Given the description of an element on the screen output the (x, y) to click on. 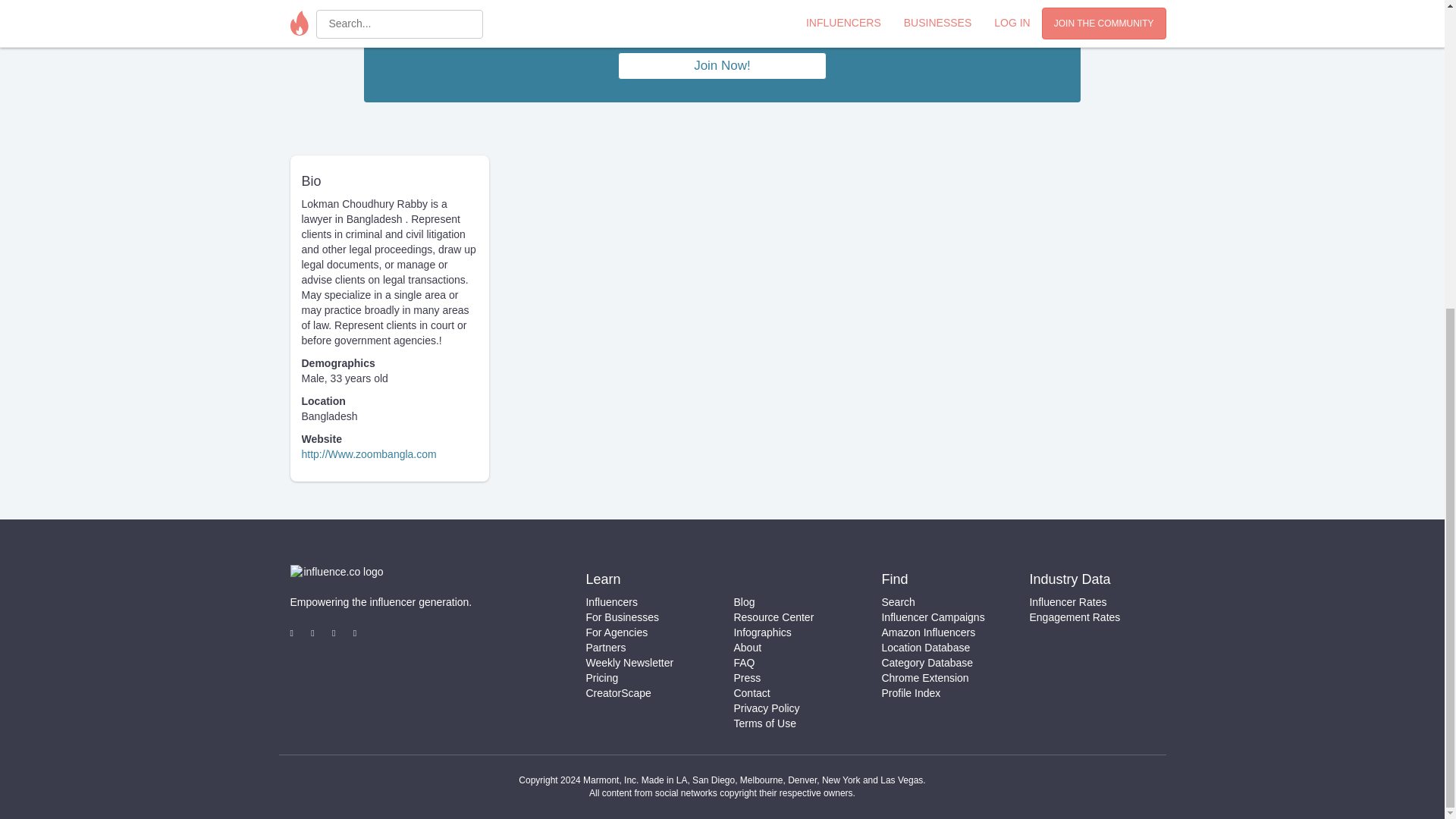
Join Now! (722, 66)
Partners (605, 647)
Influencers (611, 602)
For Businesses (621, 616)
For Agencies (616, 632)
